Given the description of an element on the screen output the (x, y) to click on. 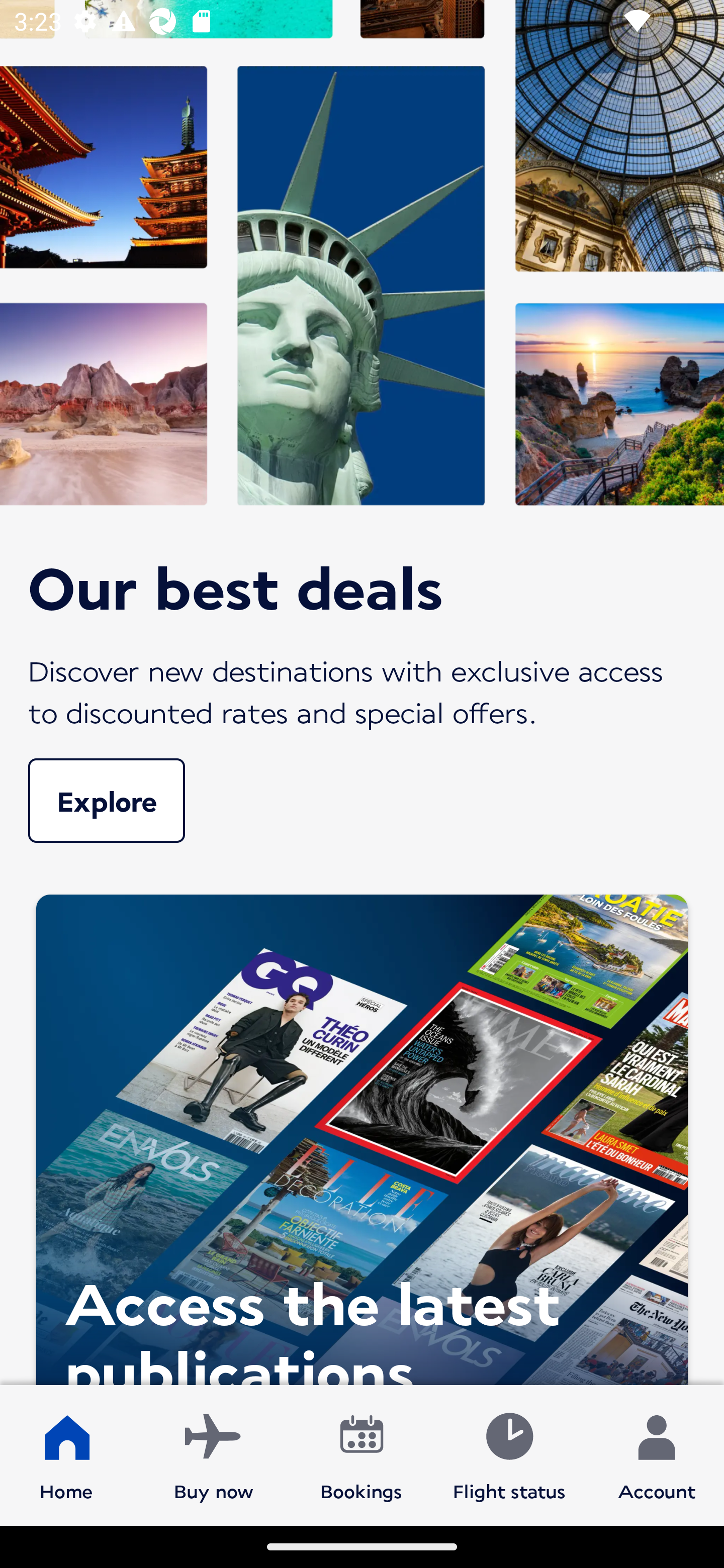
Access the latest publications (361, 1134)
Buy now (213, 1454)
Bookings (361, 1454)
Flight status (509, 1454)
Account (657, 1454)
